Given the description of an element on the screen output the (x, y) to click on. 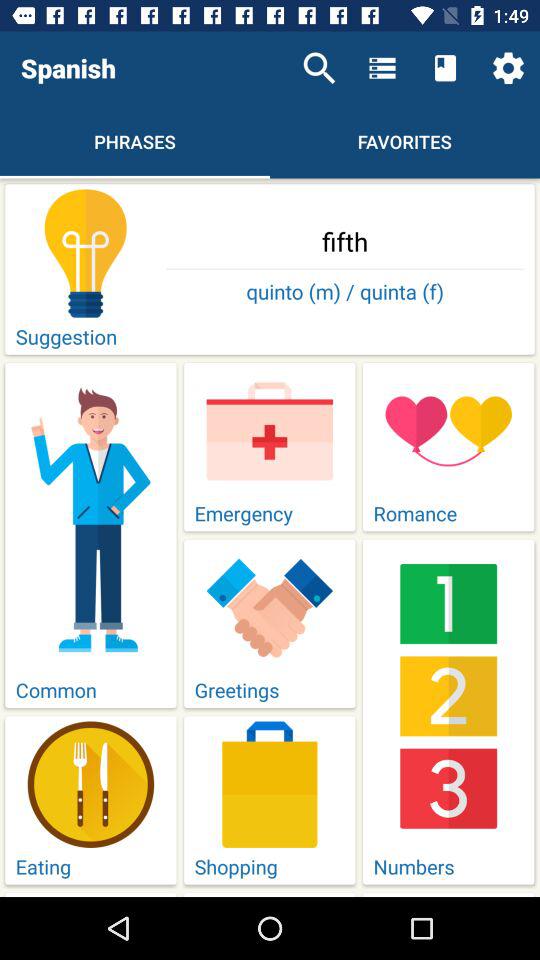
tap item above fifth icon (319, 67)
